Given the description of an element on the screen output the (x, y) to click on. 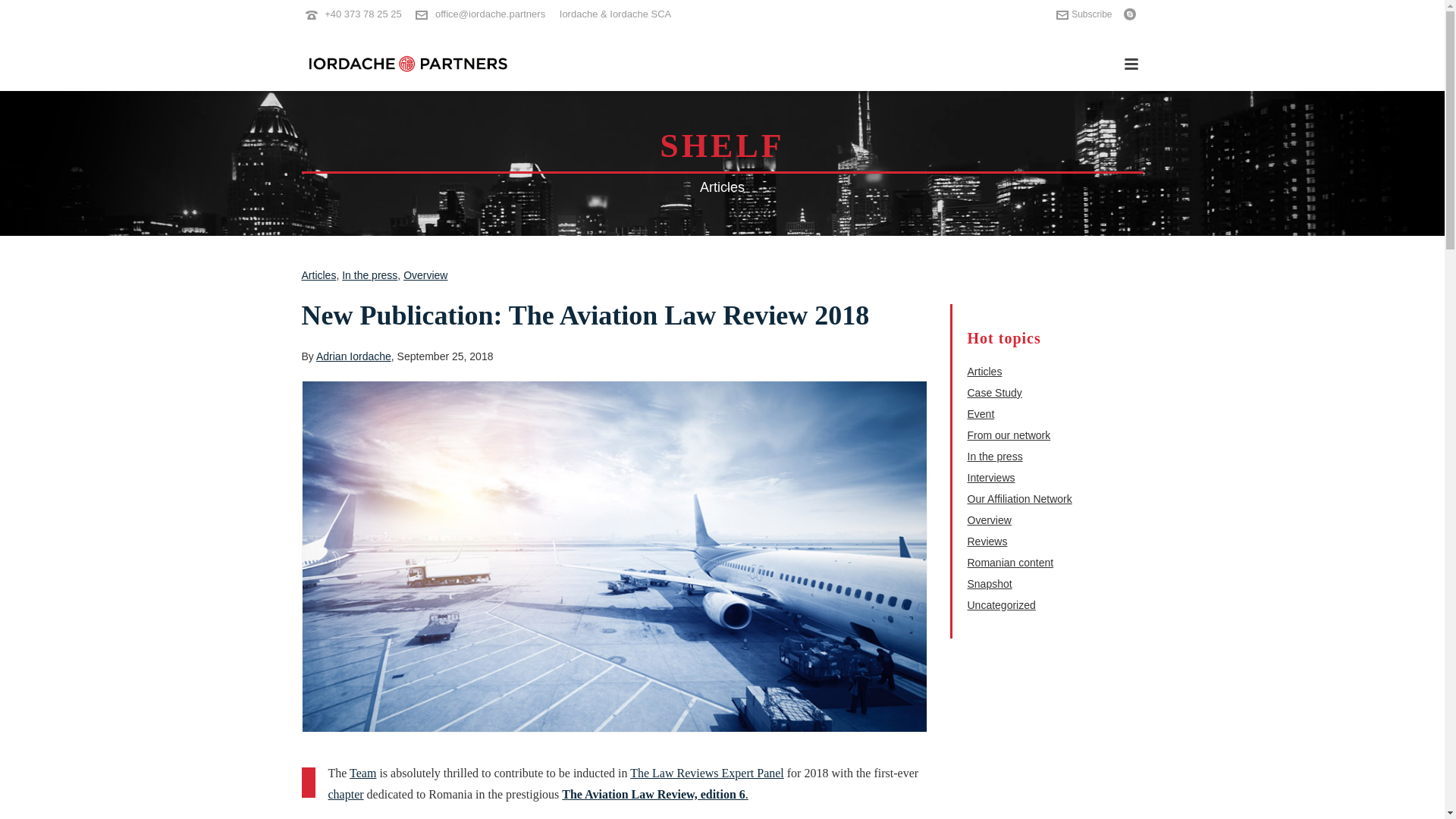
The Law Reviews Expert Panel (707, 772)
From our network (1009, 435)
SHELF (721, 145)
Our Affiliation Network (1019, 499)
In the press (995, 456)
The Aviation Law Review, edition 6. (655, 793)
Case Study (995, 392)
Posts by Adrian Iordache (353, 356)
Interviews (991, 477)
Articles (722, 186)
Uncategorized (1001, 604)
Event (981, 413)
Legal support for good ideas (406, 64)
In the press (369, 275)
Team (362, 772)
